Given the description of an element on the screen output the (x, y) to click on. 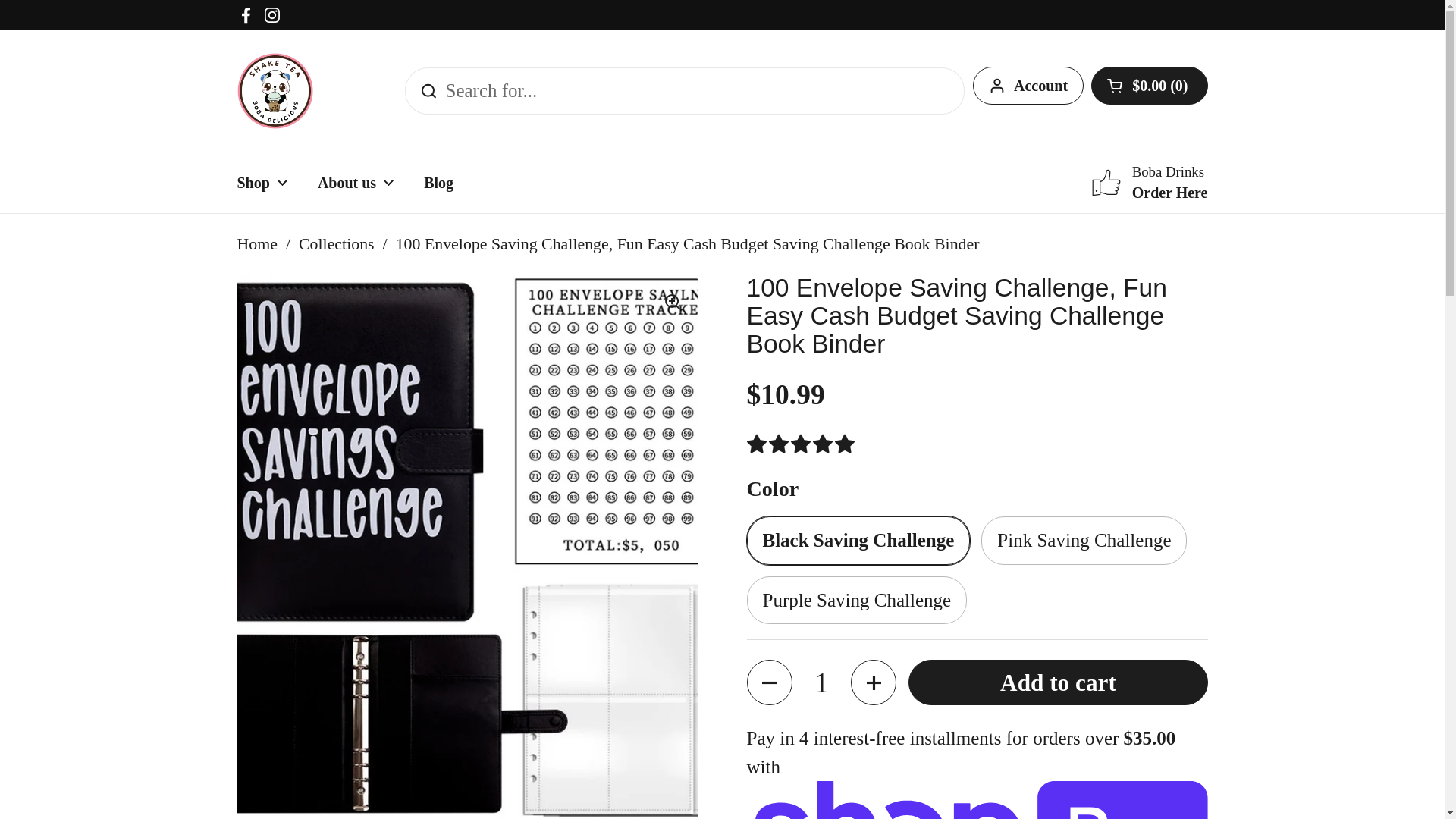
Facebook (1150, 182)
Open cart (244, 14)
Blog (1148, 85)
1 (438, 182)
About us (820, 682)
Account (355, 182)
Skip to content (1027, 85)
Shop (274, 90)
